Given the description of an element on the screen output the (x, y) to click on. 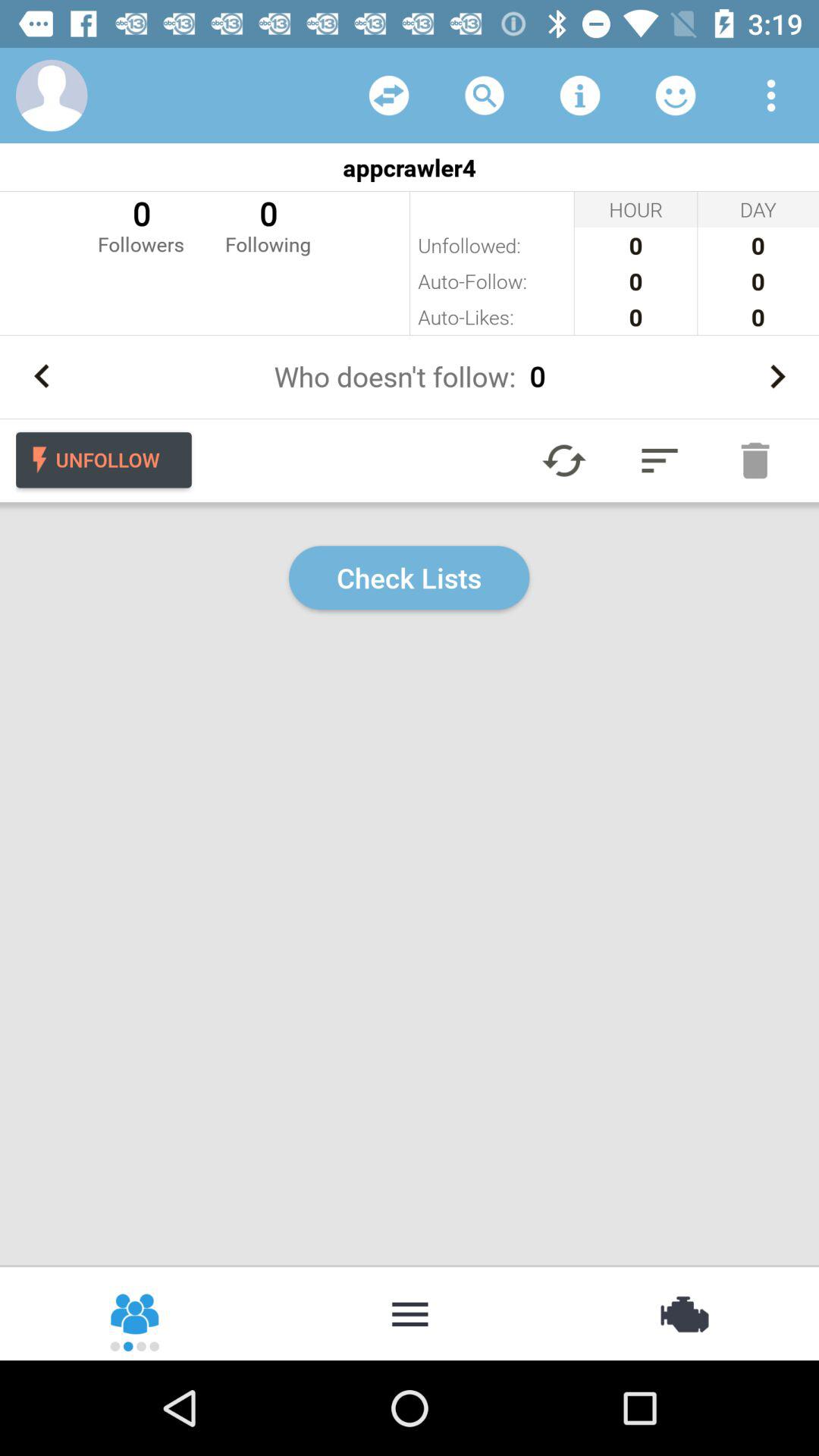
enter rating (675, 95)
